Given the description of an element on the screen output the (x, y) to click on. 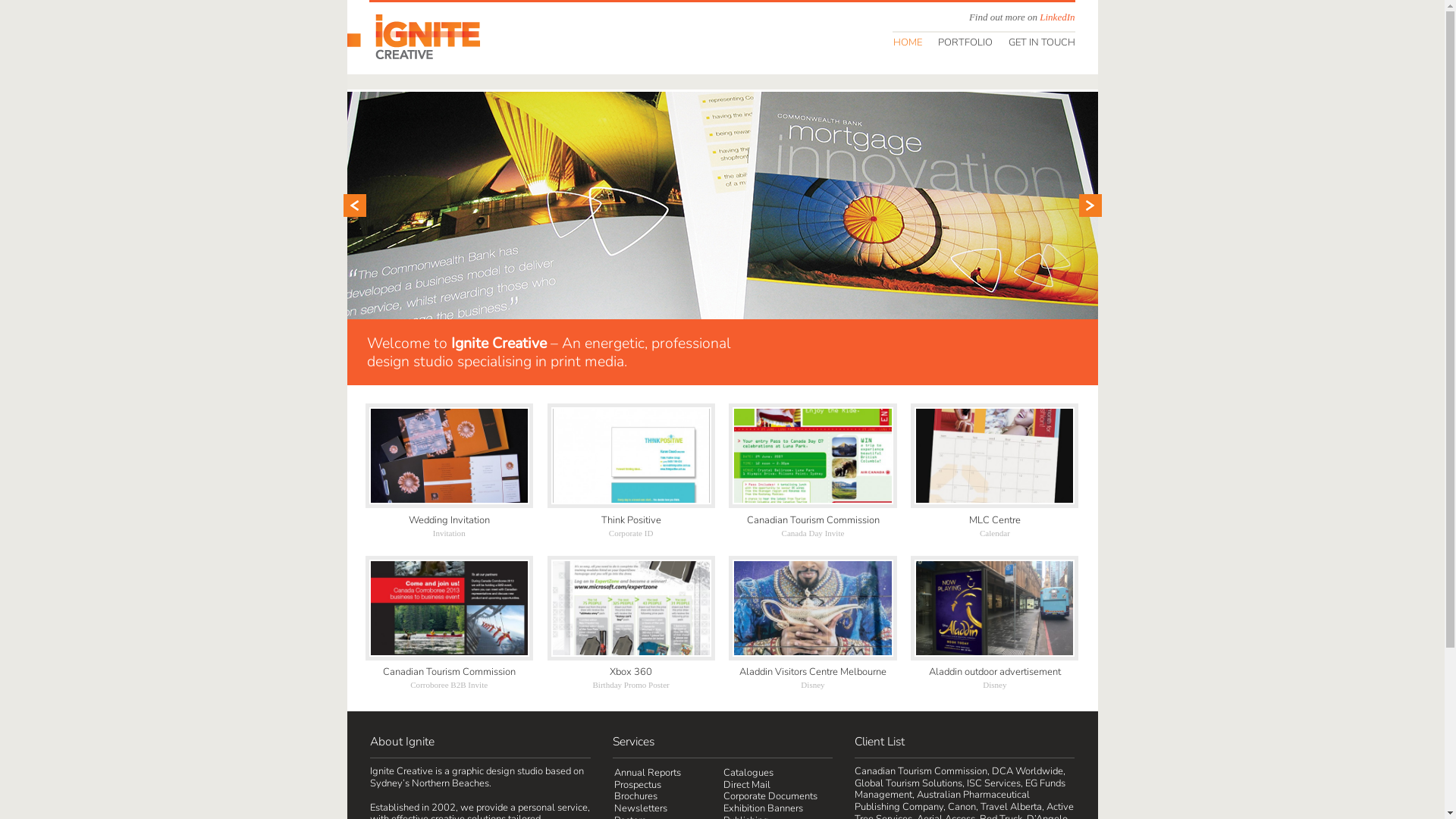
HOME Element type: text (906, 42)
Aladdin outdoor advertisement
Disney Element type: text (994, 624)
Xbox 360
Birthday Promo Poster Element type: text (631, 624)
Commonwealth Bank Innovators brochure Element type: hover (722, 205)
Ignite Creative Element type: text (413, 36)
Canadian Tourism Commission
Corroboree B2B Invite Element type: text (449, 624)
GET IN TOUCH Element type: text (1040, 42)
Previous Element type: text (353, 205)
Canadian Tourism Commission
Canada Day Invite Element type: text (812, 472)
Think Positive
Corporate ID Element type: text (631, 472)
Next Element type: text (1089, 205)
LinkedIn Element type: text (1056, 16)
Aladdin Visitors Centre Melbourne
Disney Element type: text (812, 624)
PORTFOLIO Element type: text (964, 42)
MLC Centre
Calendar Element type: text (994, 472)
Wedding Invitation
Invitation Element type: text (449, 472)
